Given the description of an element on the screen output the (x, y) to click on. 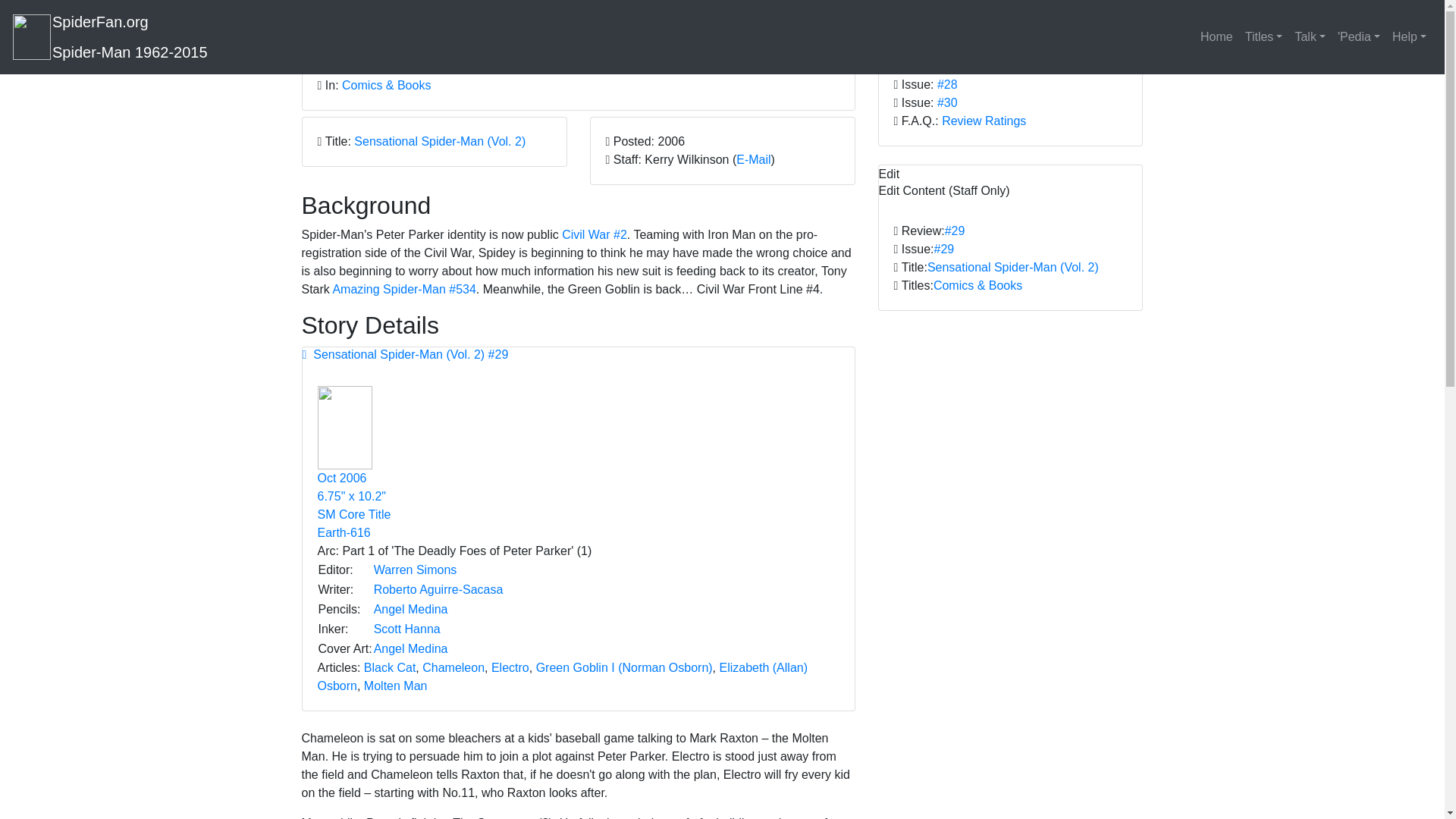
Home (1216, 37)
'Pedia (1359, 37)
Spider-Man 1962-2015 (130, 51)
Talk (1310, 37)
Titles (1263, 37)
Base Continuity (343, 532)
Size (351, 495)
SpiderFan.org (100, 21)
E-Mail (753, 159)
Help (1409, 37)
